Given the description of an element on the screen output the (x, y) to click on. 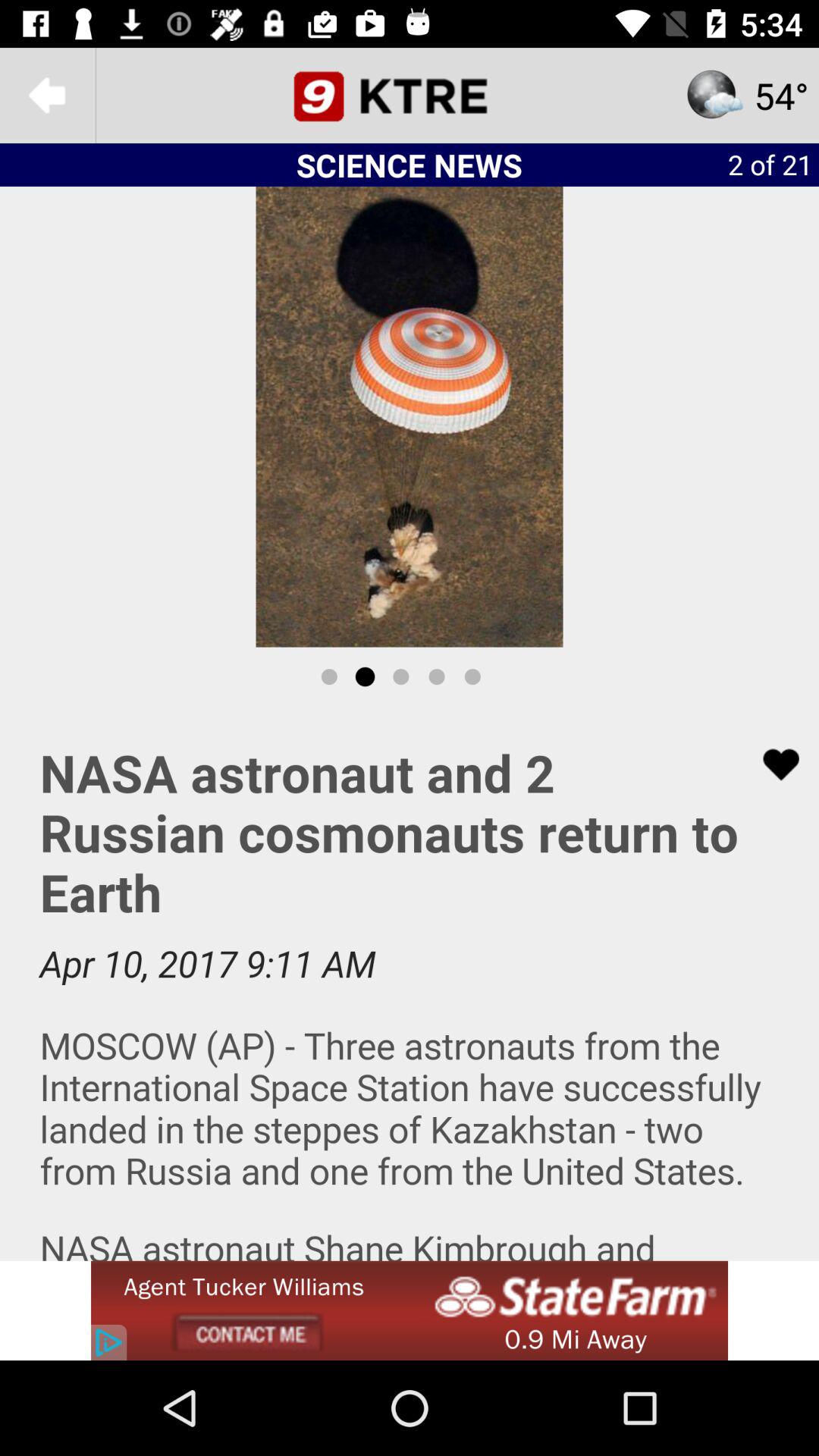
select article (409, 983)
